Given the description of an element on the screen output the (x, y) to click on. 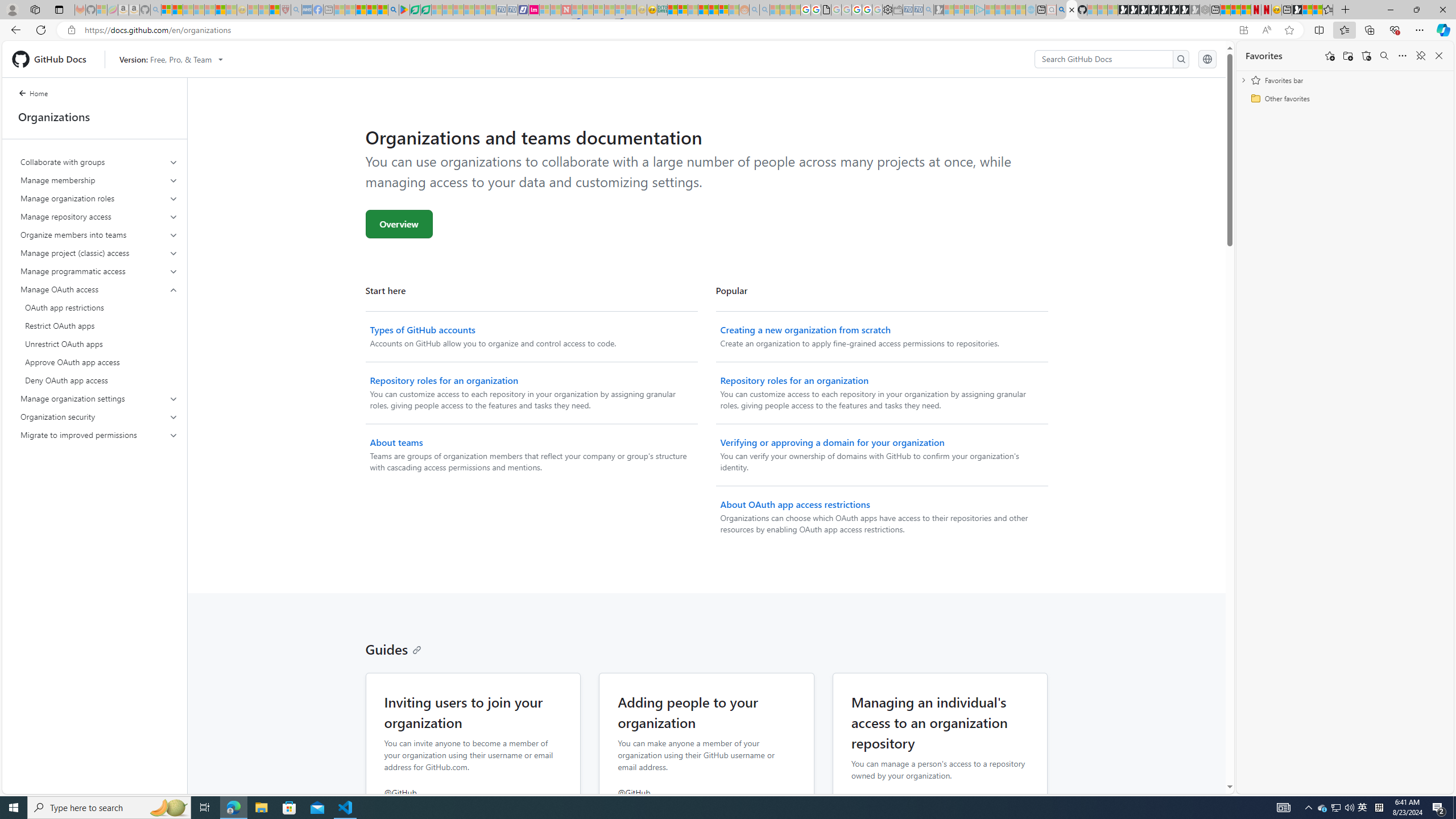
Manage programmatic access (99, 271)
Overview (398, 223)
Collaborate with groups (99, 162)
OAuth app restrictions (99, 307)
GitHub Docs (53, 58)
